Given the description of an element on the screen output the (x, y) to click on. 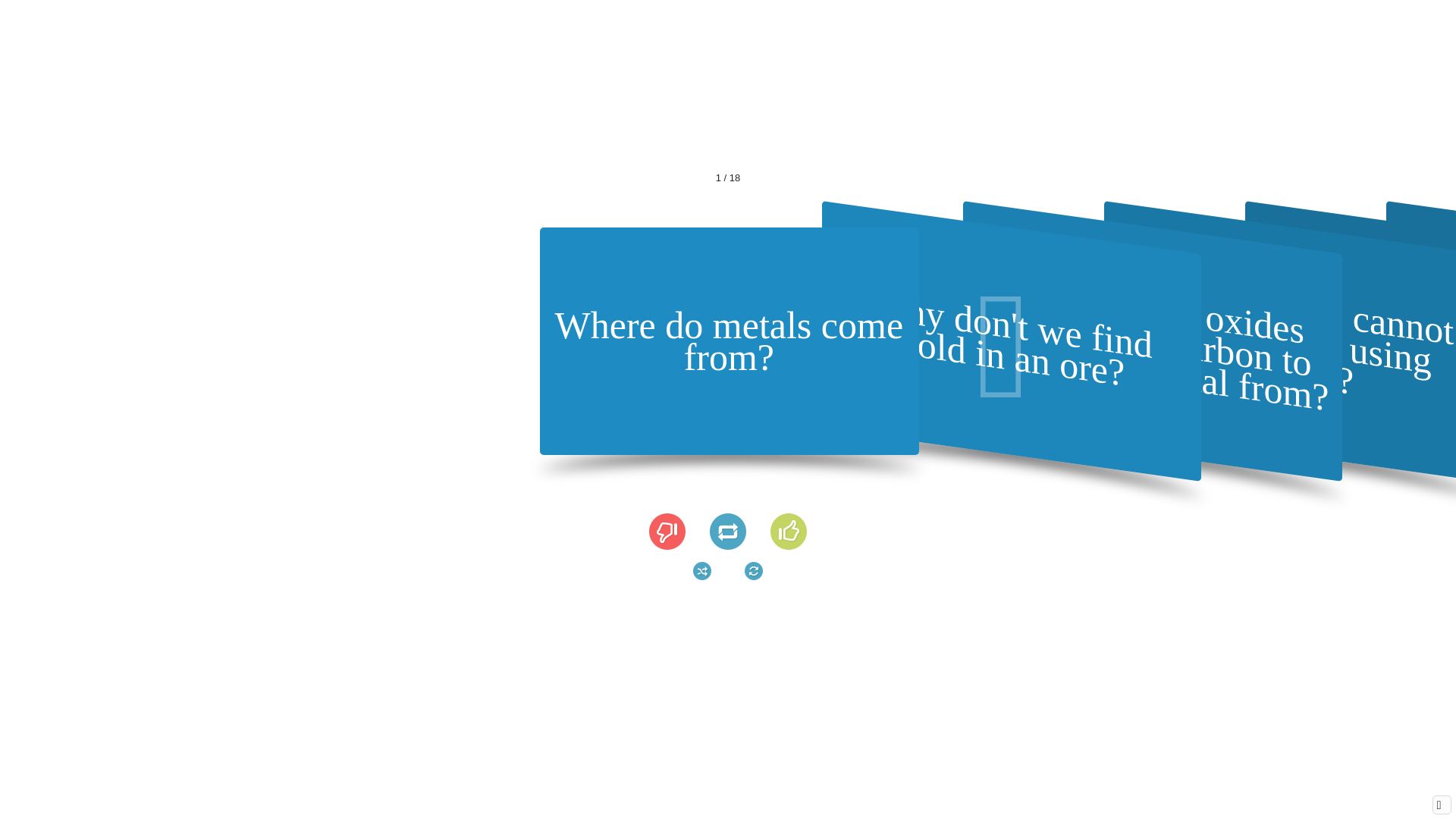
I don't know this card (667, 531)
Flip Card (727, 531)
Flip Deck (753, 570)
Full Screen (1440, 804)
Why don't we find gold in an ore? (1011, 314)
I know this card (788, 531)
Where do metals come from? (728, 340)
Shuffle Deck (702, 570)
